Given the description of an element on the screen output the (x, y) to click on. 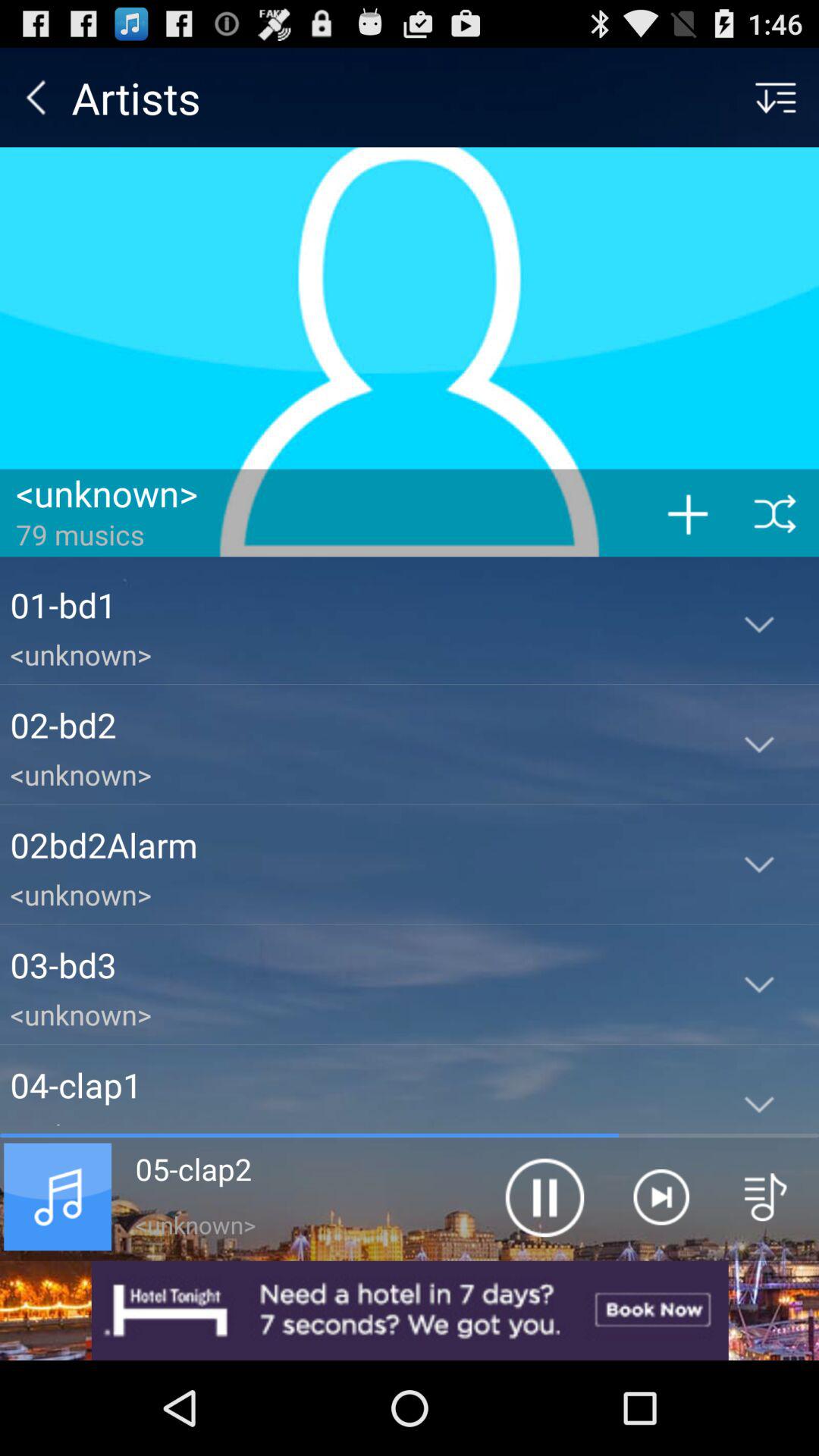
press icon at the top left corner (35, 97)
